Given the description of an element on the screen output the (x, y) to click on. 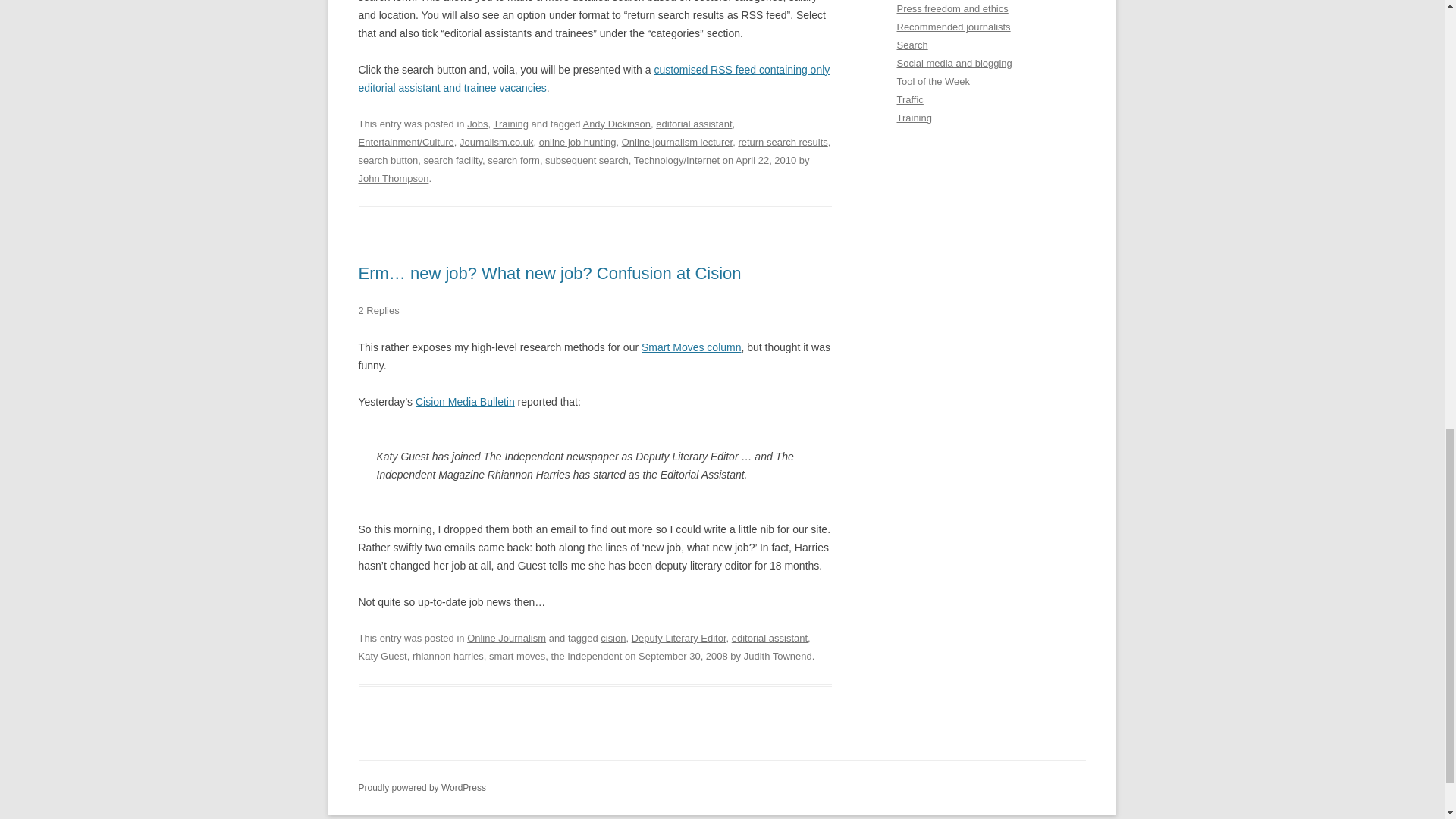
search facility (452, 160)
2 Replies (378, 310)
cision (612, 637)
search form (513, 160)
John Thompson (393, 178)
editorial assistant (770, 637)
subsequent search (586, 160)
Katy Guest (382, 655)
smart moves (516, 655)
online job hunting (576, 142)
10:50 am (765, 160)
2:53 pm (683, 655)
Smart Moves column (691, 346)
Semantic Personal Publishing Platform (422, 787)
